Given the description of an element on the screen output the (x, y) to click on. 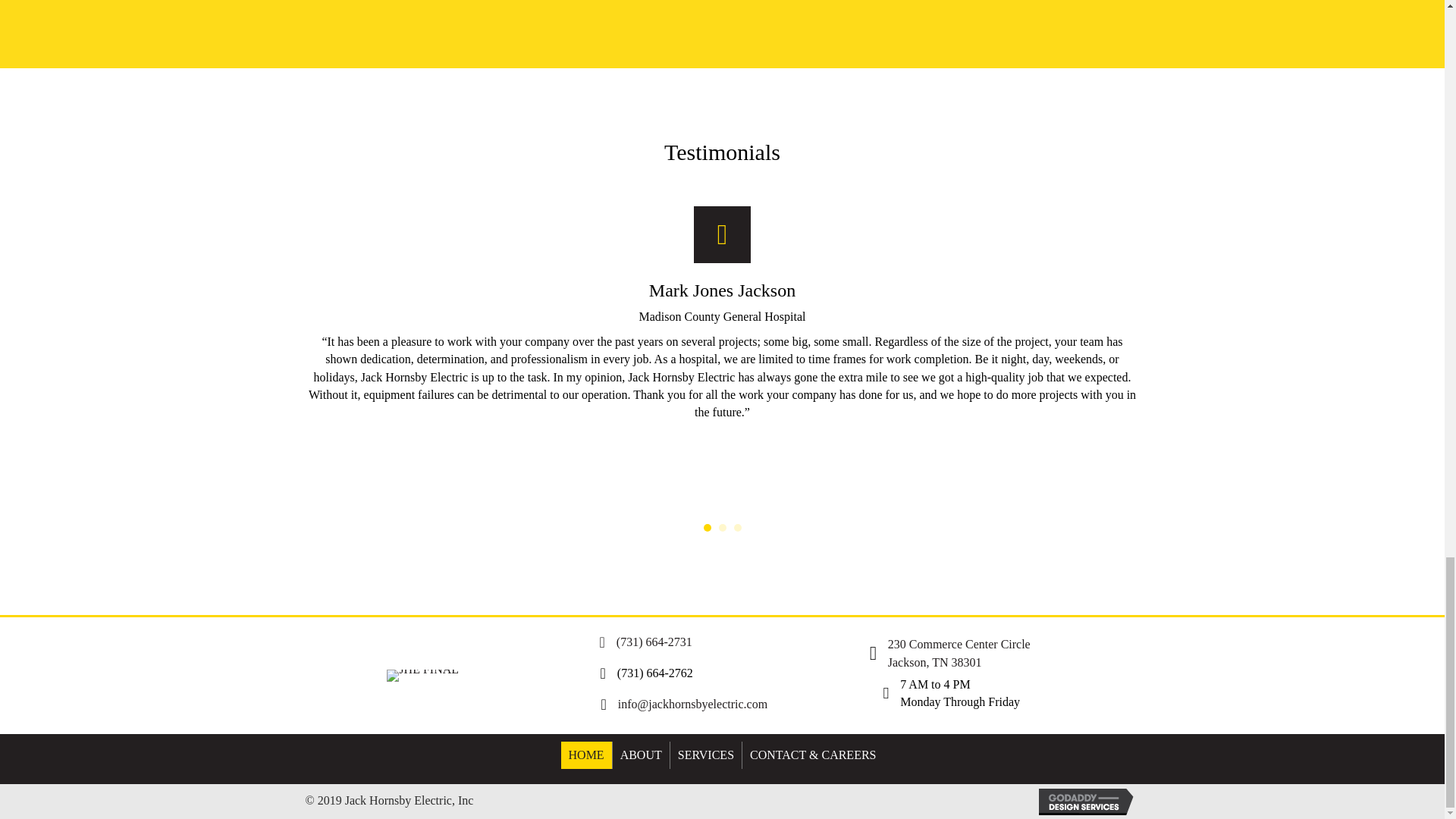
1 (707, 527)
2 (722, 527)
ABOUT (640, 755)
SERVICES (705, 755)
3 (737, 527)
HOME (585, 755)
JHE FINAL (422, 675)
